Given the description of an element on the screen output the (x, y) to click on. 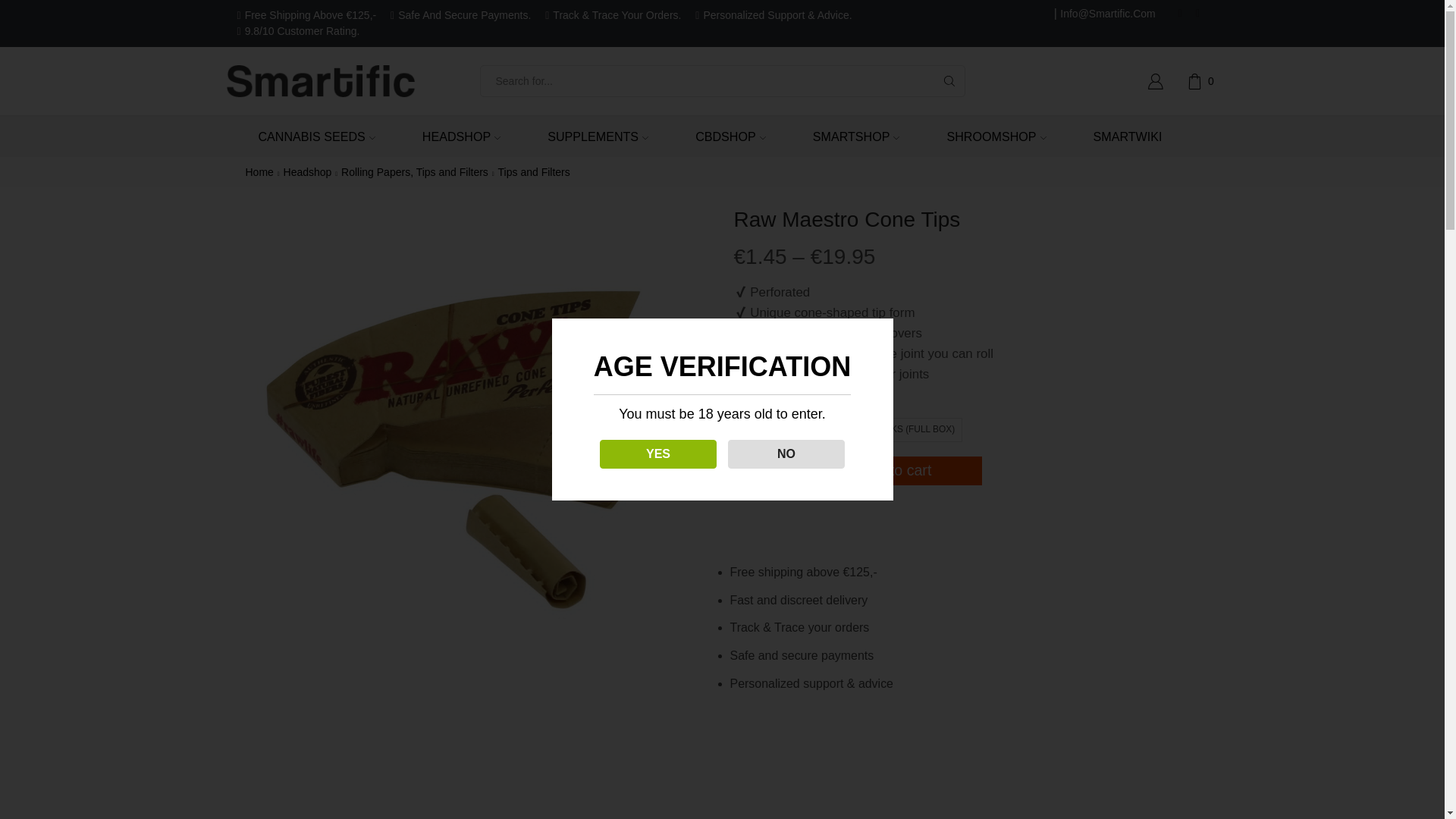
SUPPLEMENTS (592, 136)
1 (761, 470)
SMARTSHOP (851, 136)
SMARTWIKI (1122, 136)
0 (1202, 80)
CBDSHOP (725, 136)
SHROOMSHOP (990, 136)
NO (768, 453)
CANNABIS SEEDS (310, 136)
YES (634, 453)
